Given the description of an element on the screen output the (x, y) to click on. 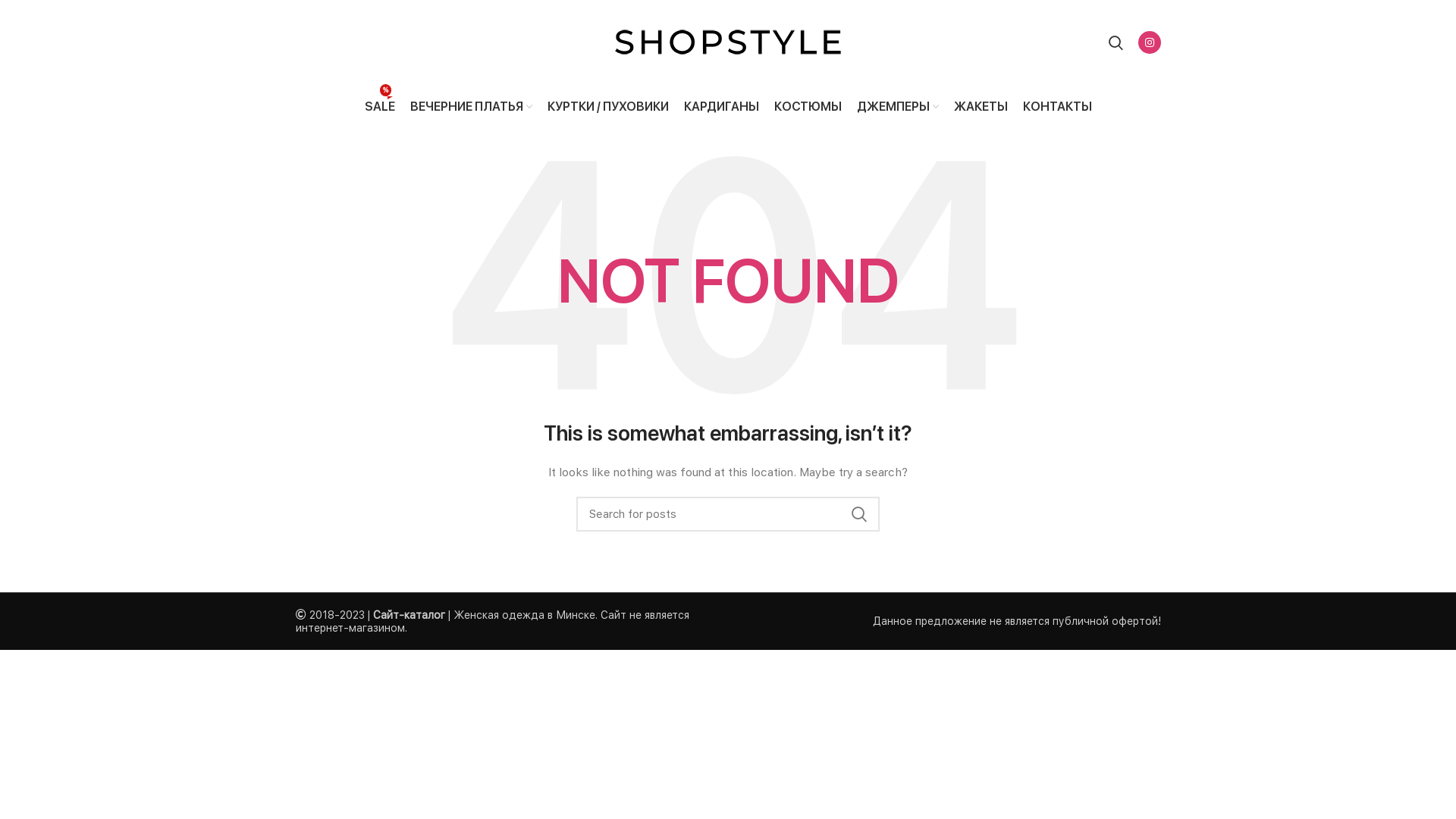
SEARCH Element type: text (859, 513)
Search for posts Element type: hover (727, 513)
SALE
% Element type: text (378, 106)
